Given the description of an element on the screen output the (x, y) to click on. 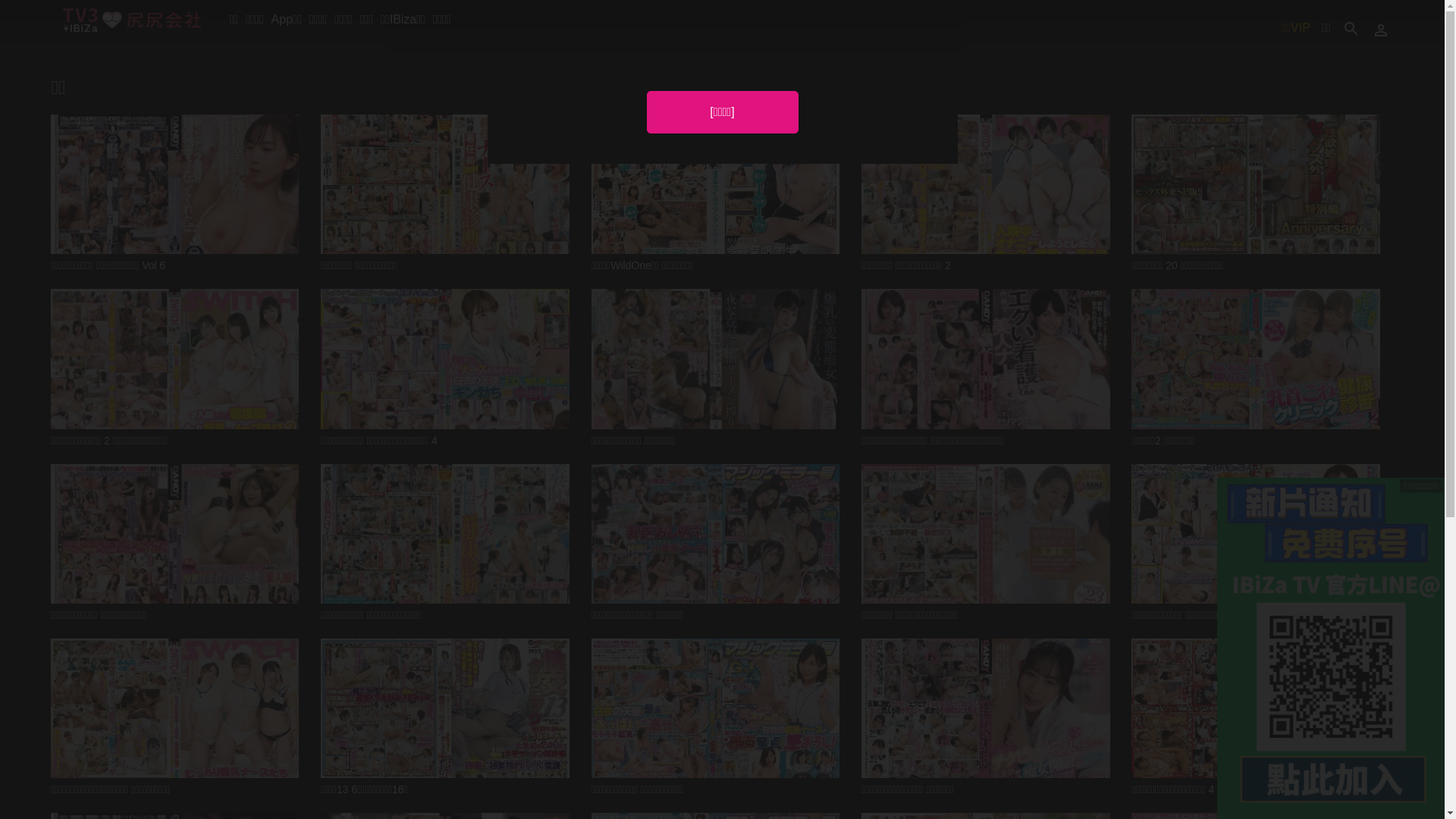
search Element type: text (1350, 27)
